Given the description of an element on the screen output the (x, y) to click on. 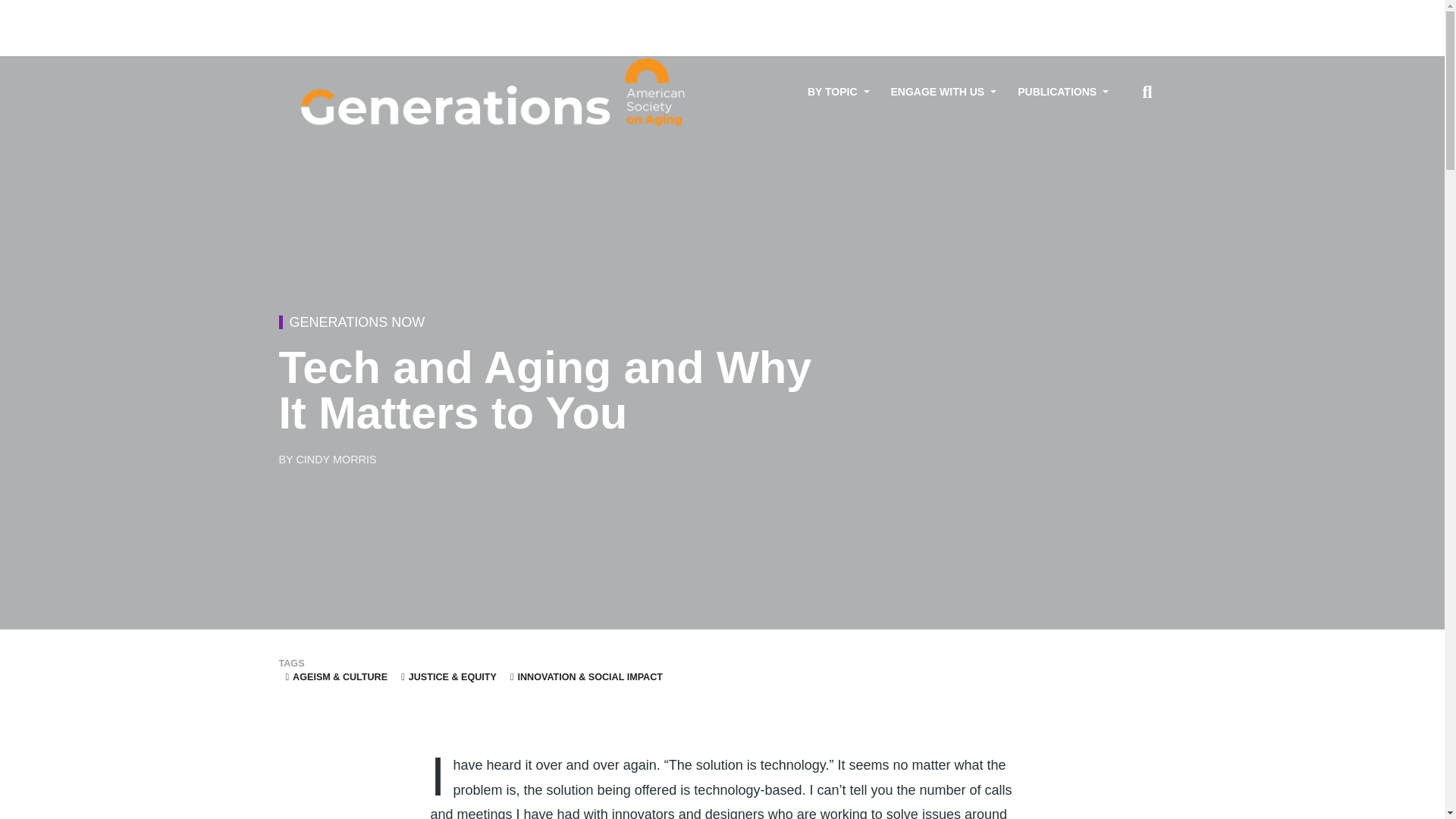
ENGAGE WITH US (943, 92)
Home (495, 91)
Join ASA (1096, 13)
Login (1142, 13)
PUBLICATIONS (1063, 92)
Login (1142, 13)
Learn more, get involved, listen to our podcasts (943, 92)
